Given the description of an element on the screen output the (x, y) to click on. 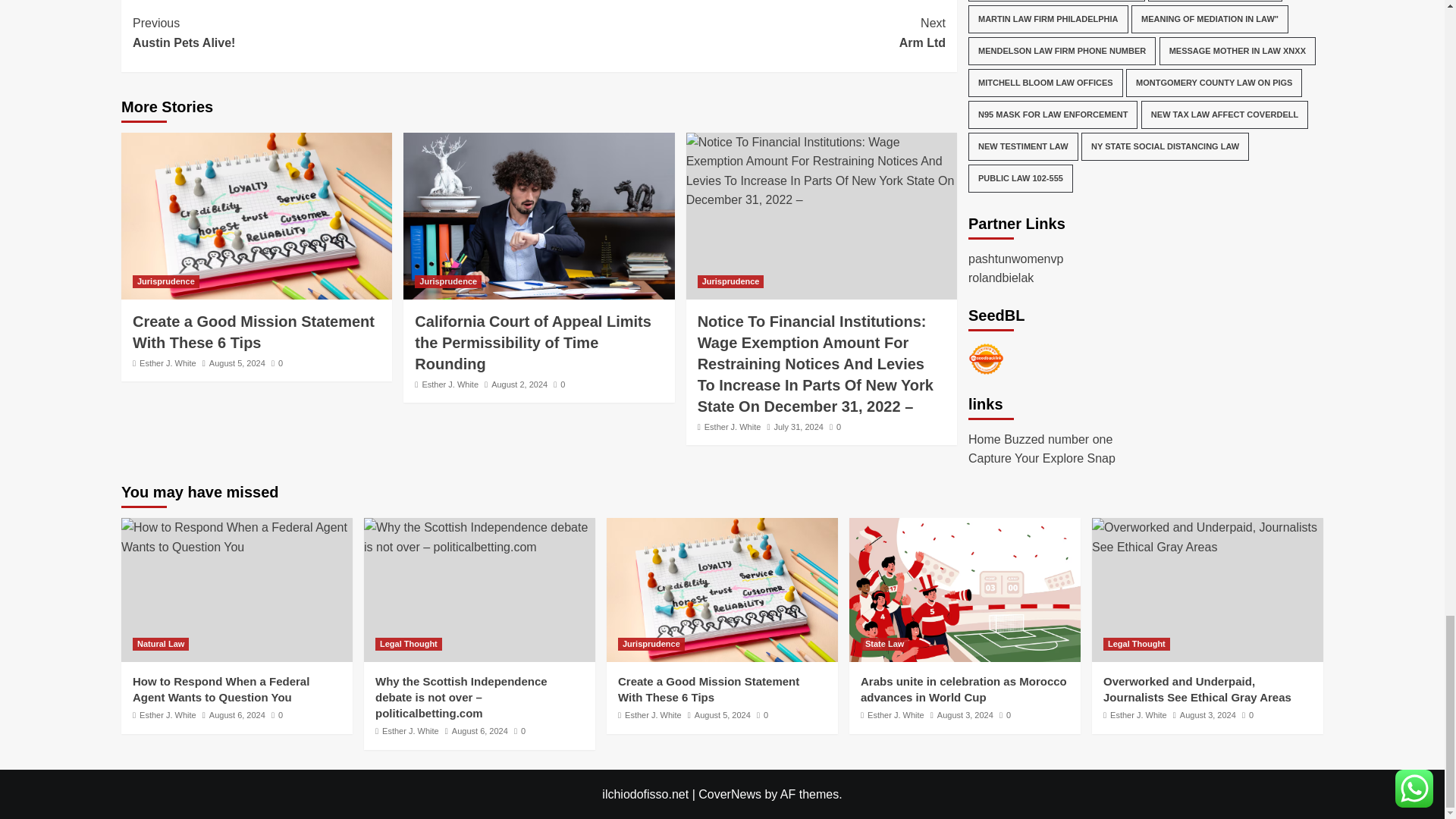
Create a Good Mission Statement With These 6 Tips (335, 32)
